Given the description of an element on the screen output the (x, y) to click on. 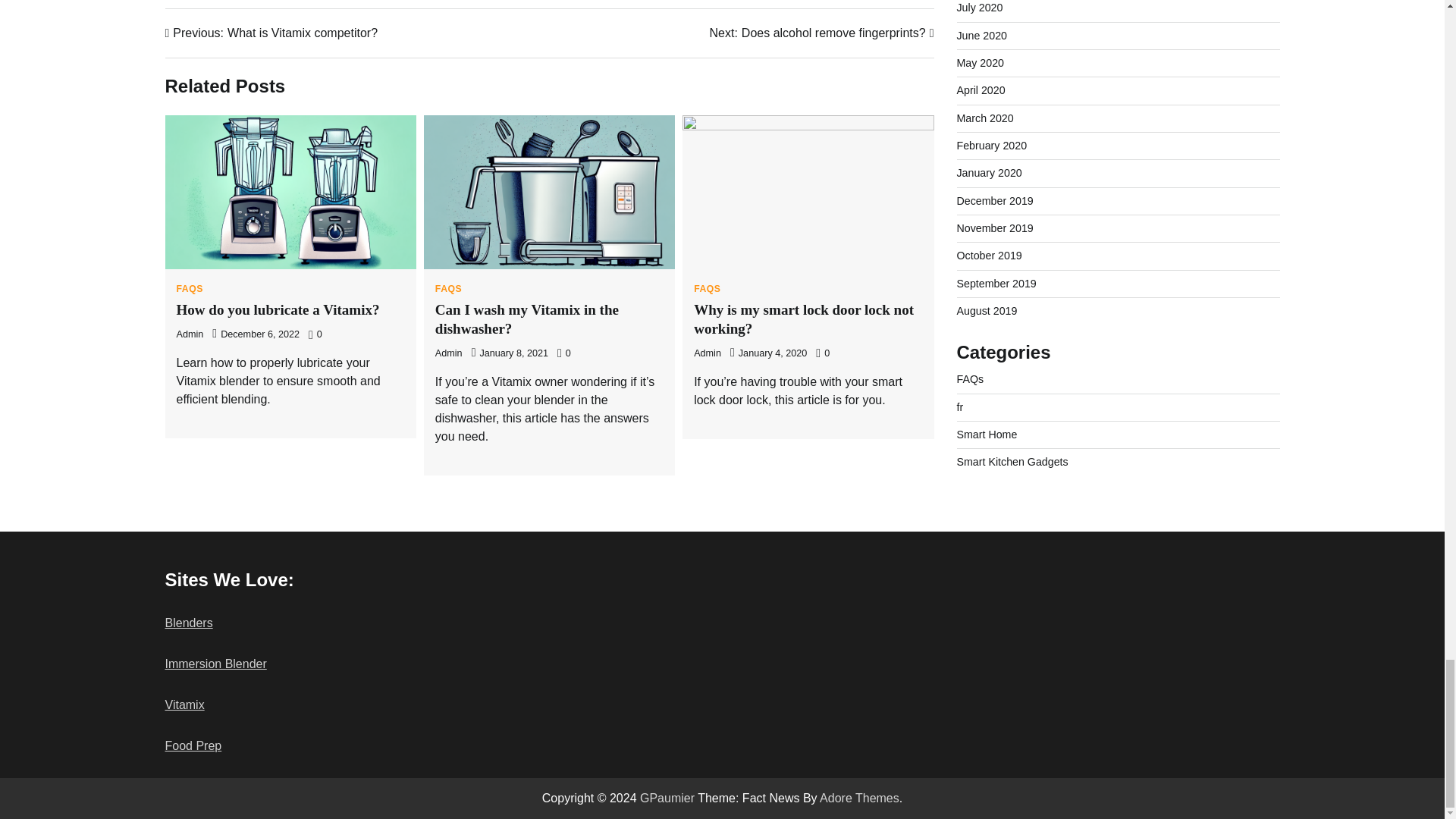
Admin (189, 334)
FAQS (707, 288)
Why is my smart lock door lock not working? (804, 319)
FAQS (189, 288)
Admin (271, 33)
Can I wash my Vitamix in the dishwasher? (449, 353)
How do you lubricate a Vitamix? (822, 33)
FAQS (526, 319)
